Given the description of an element on the screen output the (x, y) to click on. 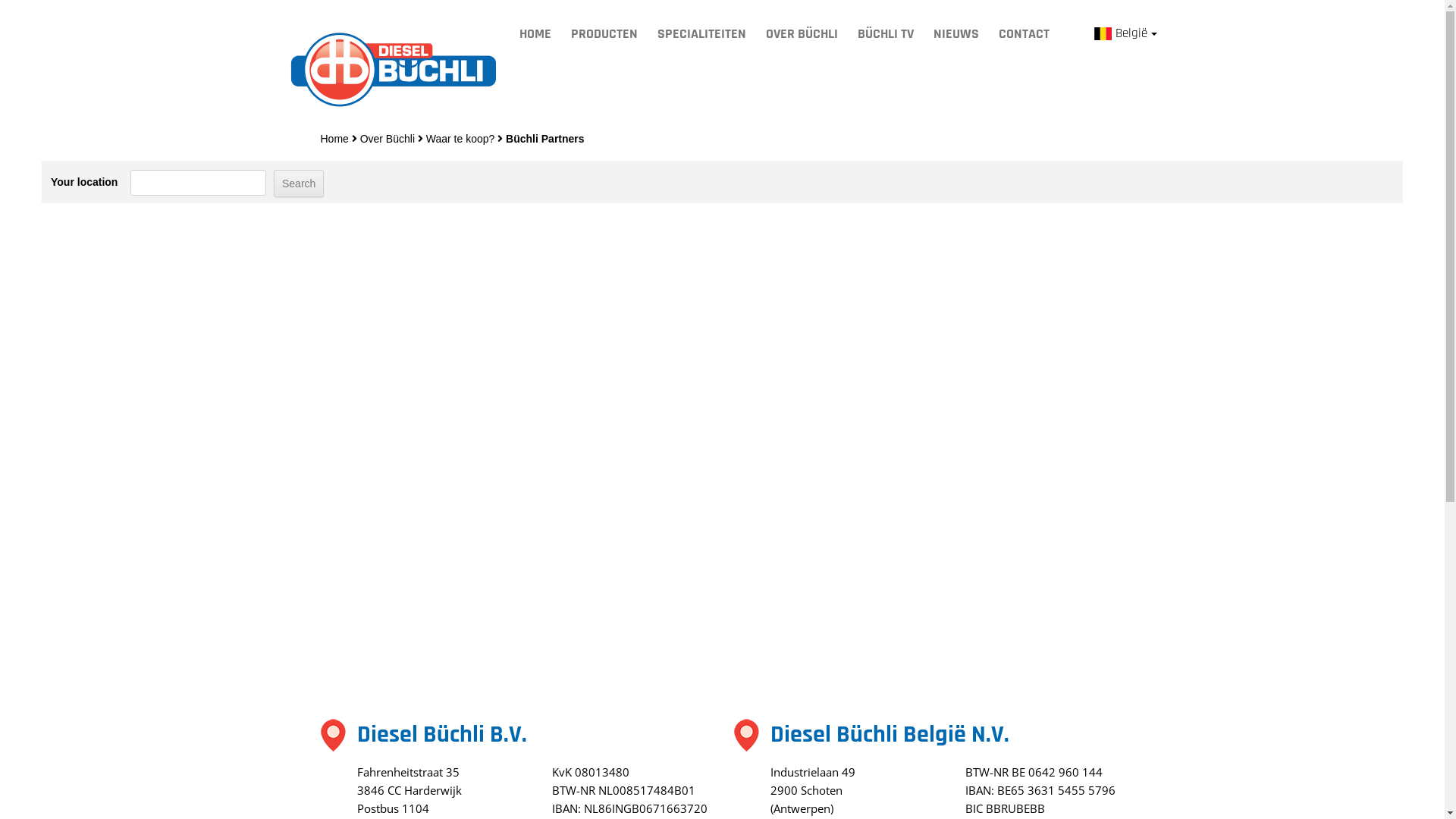
SPECIALITEITEN Element type: text (701, 33)
Search Element type: text (298, 183)
HOME Element type: text (534, 33)
Waar te koop? Element type: text (460, 138)
CONTACT Element type: text (1023, 33)
NIEUWS Element type: text (955, 33)
PRODUCTEN Element type: text (603, 33)
Home Element type: text (334, 138)
